Given the description of an element on the screen output the (x, y) to click on. 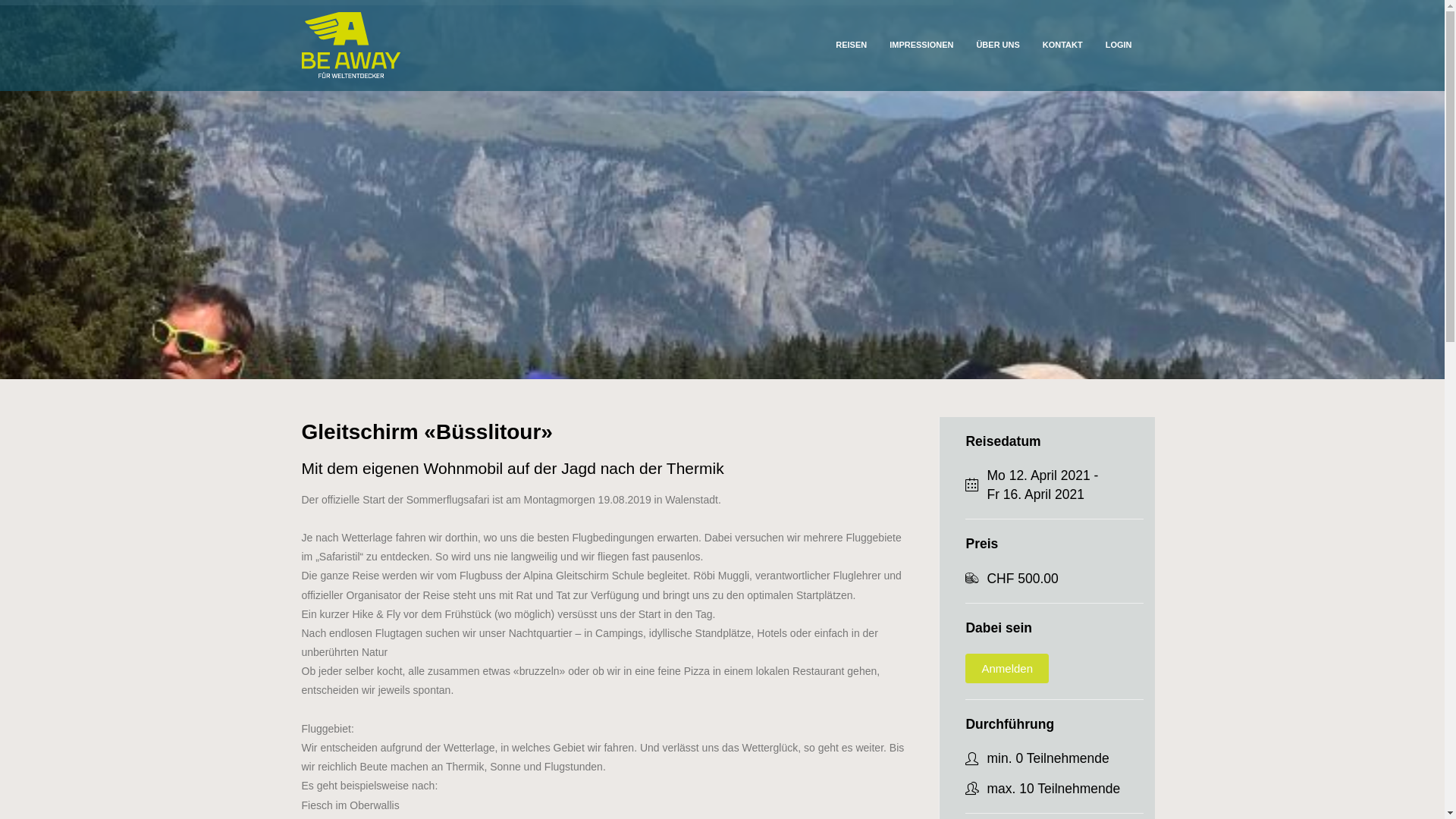
LOGIN Element type: text (1118, 45)
IMPRESSIONEN Element type: text (921, 45)
REISEN
(CURRENT) Element type: text (850, 45)
BE-AWAY Home Element type: hover (350, 45)
KONTAKT Element type: text (1062, 45)
Anmelden Element type: text (1006, 668)
